Given the description of an element on the screen output the (x, y) to click on. 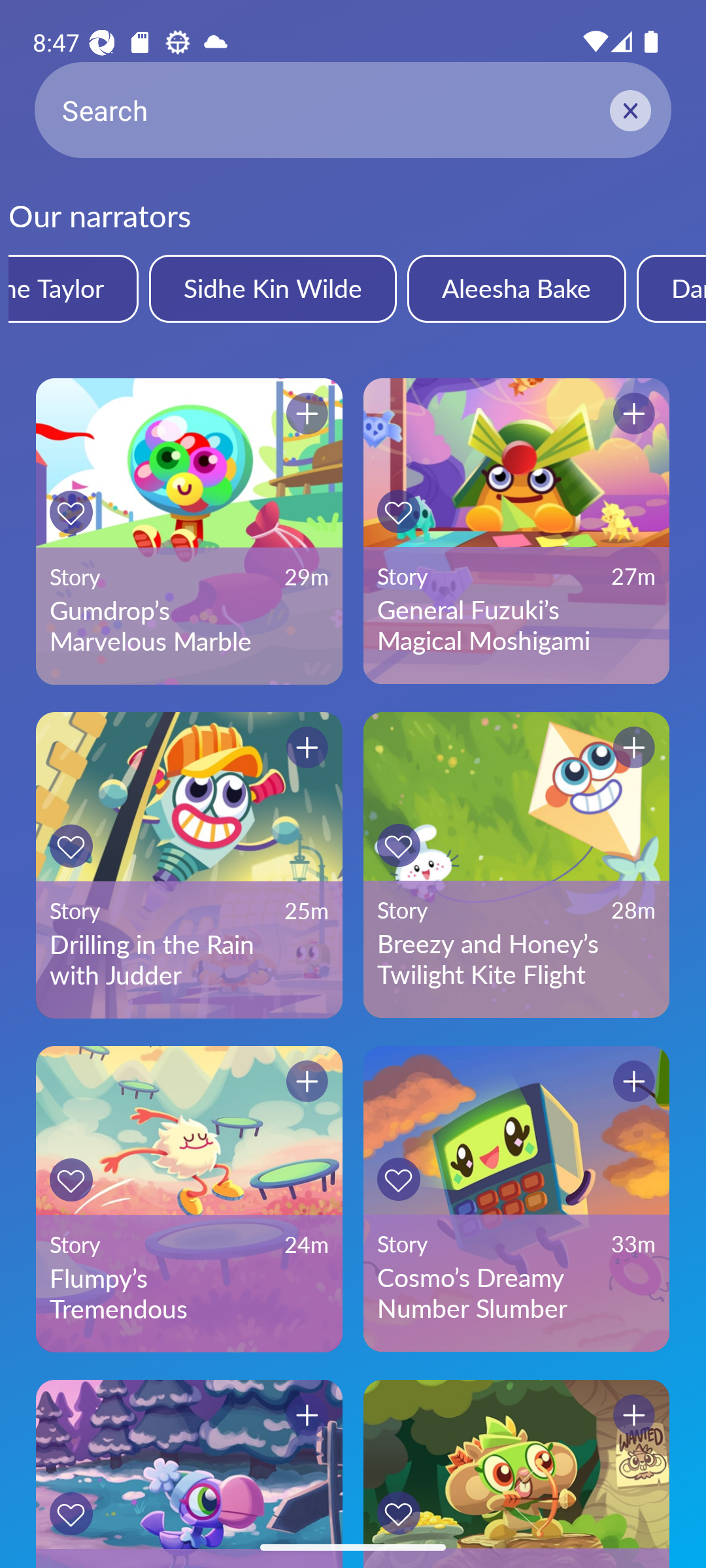
Search (352, 110)
Shane Taylor (73, 288)
Sidhe Kin Wilde (272, 288)
Aleesha Bake (516, 288)
Button (307, 413)
Button (633, 413)
Button (398, 510)
Button (71, 511)
Button (307, 746)
Button (633, 746)
Button (398, 844)
Button (71, 845)
Button (307, 1080)
Button (633, 1080)
Button (398, 1178)
Button (71, 1179)
Button (307, 1414)
Button (633, 1414)
Featured Content Button Button Story 29m (189, 1473)
Featured Content Button Button Story 26m (516, 1473)
Button (398, 1512)
Button (71, 1513)
